Given the description of an element on the screen output the (x, y) to click on. 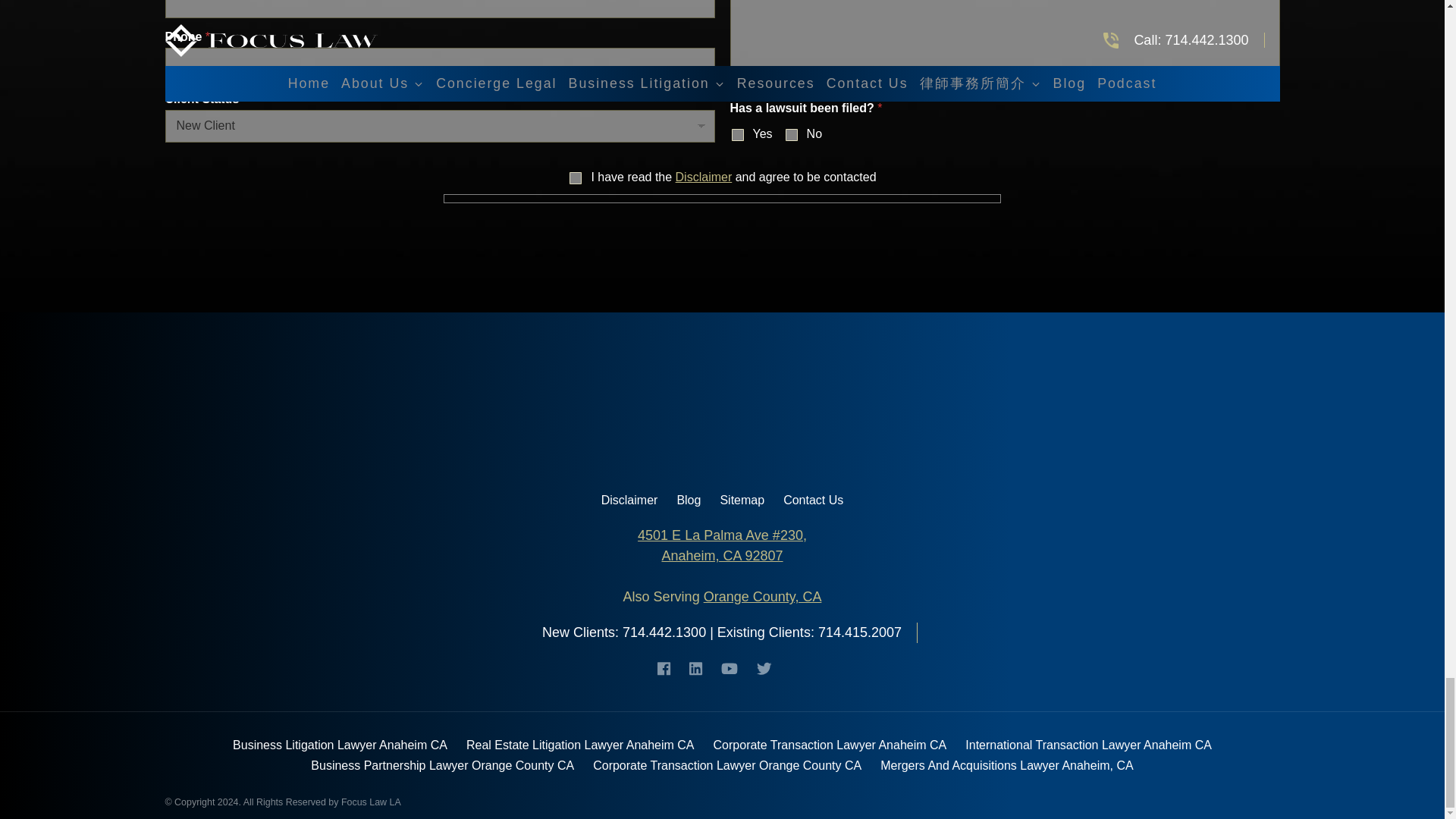
No (791, 134)
Linkedin (702, 669)
Twitter (772, 669)
Youtube (736, 669)
Yes (736, 134)
Facebook (671, 669)
